Given the description of an element on the screen output the (x, y) to click on. 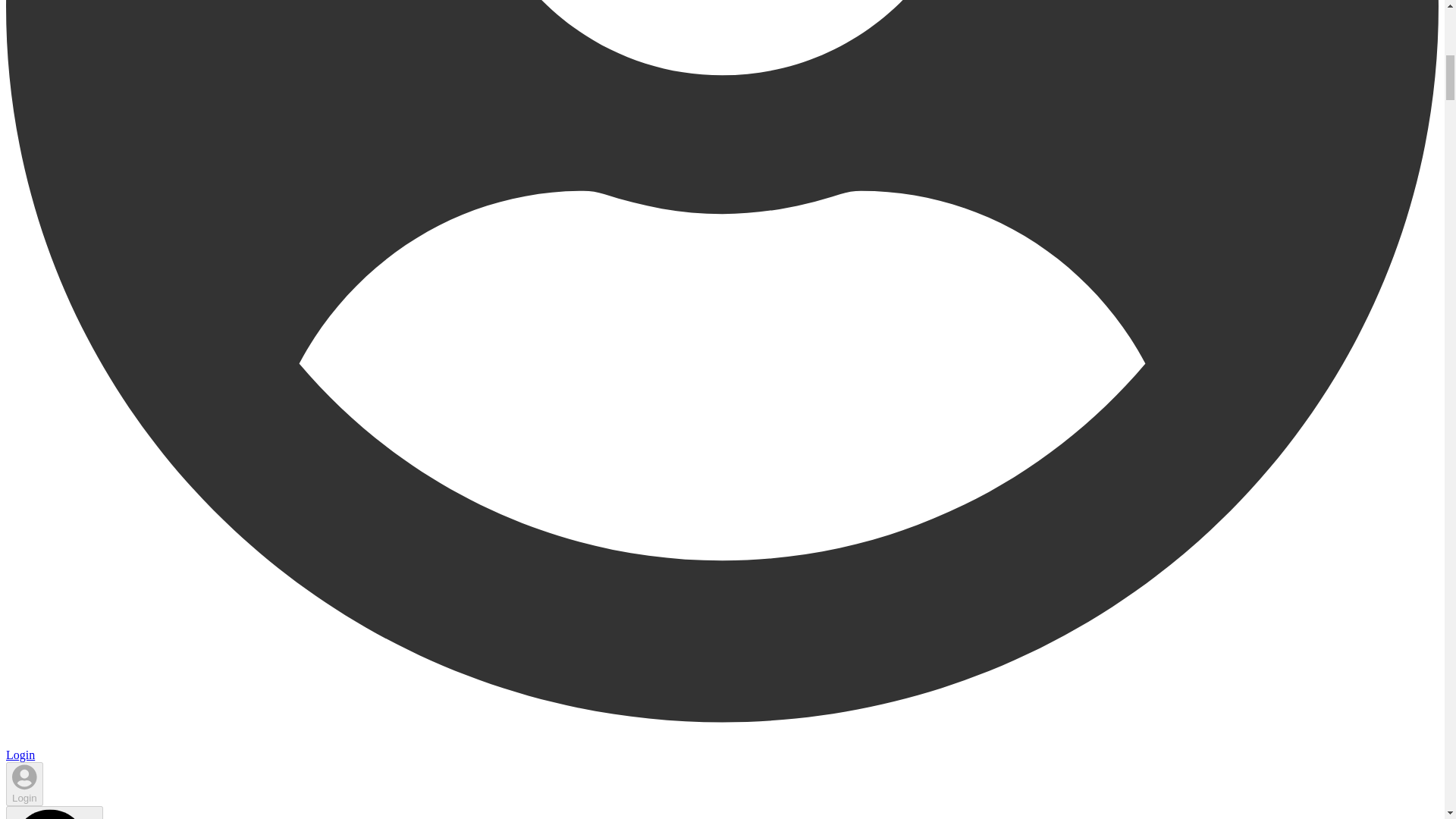
Select Language (54, 812)
